Given the description of an element on the screen output the (x, y) to click on. 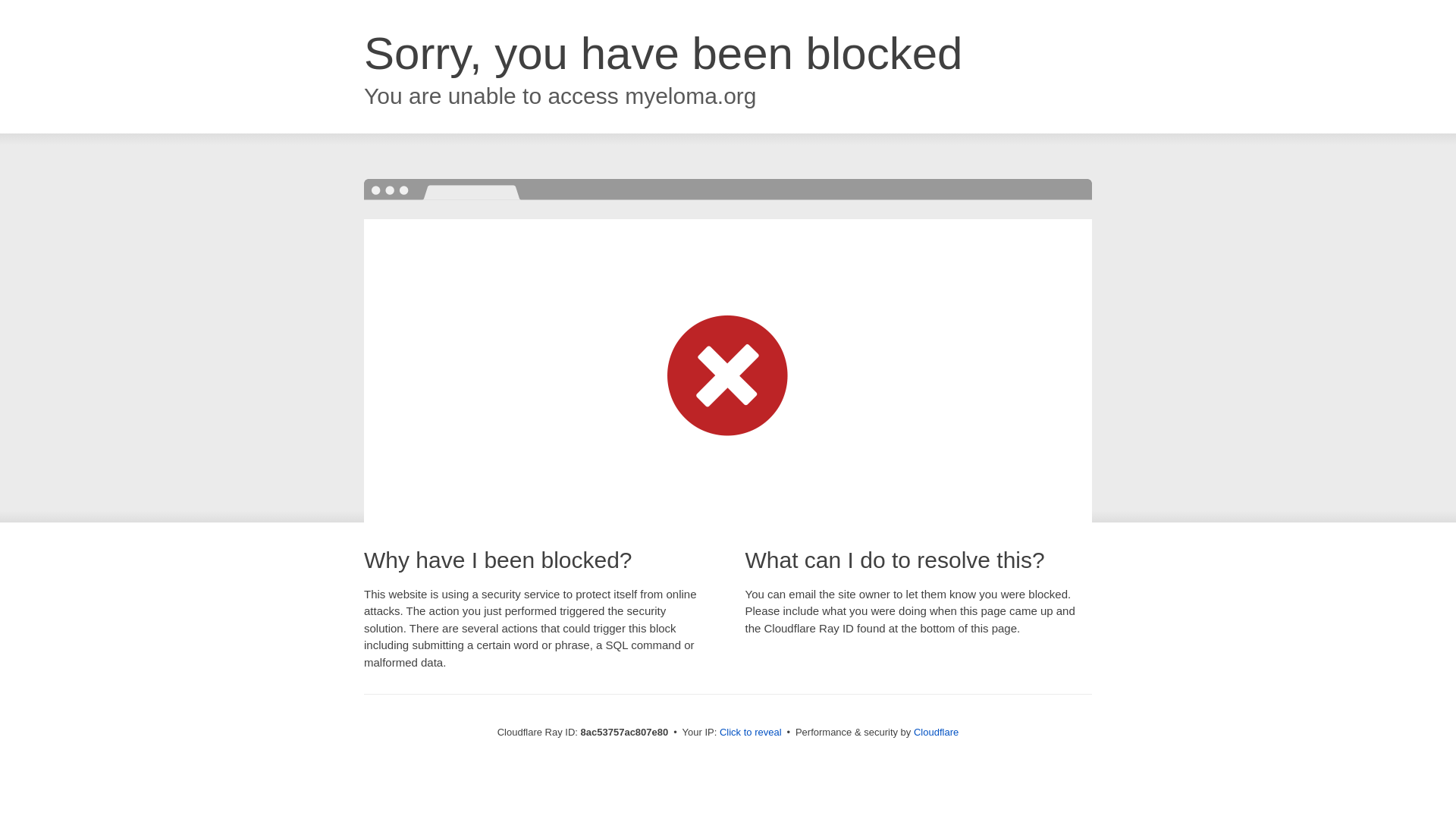
Cloudflare (936, 731)
Click to reveal (750, 732)
